Given the description of an element on the screen output the (x, y) to click on. 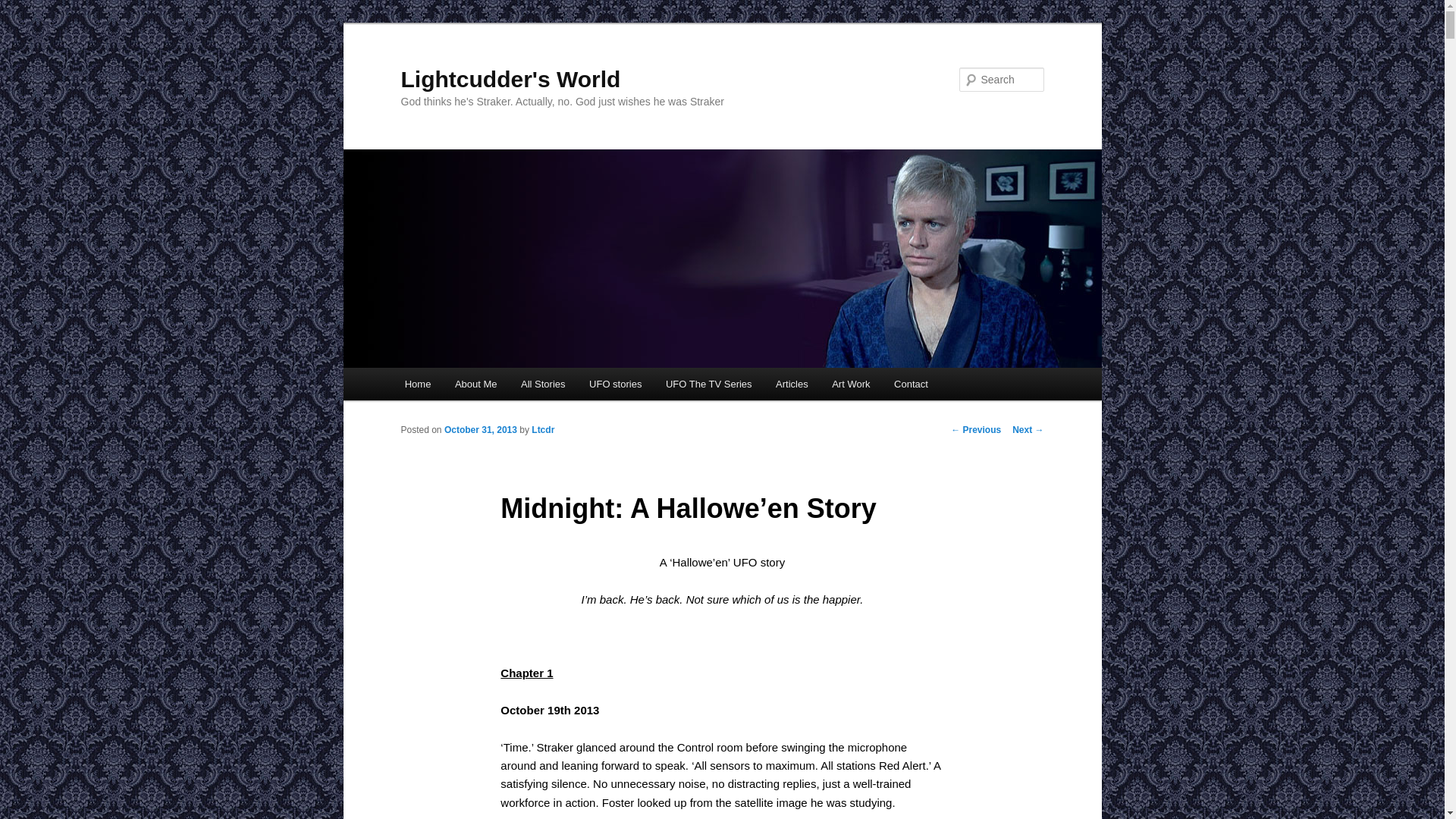
Ltcdr (542, 429)
About Me (475, 383)
Art Work (850, 383)
Articles (790, 383)
View all posts by Ltcdr (542, 429)
UFO The TV Series (707, 383)
1:54 pm (480, 429)
October 31, 2013 (480, 429)
All Stories (542, 383)
Contact (910, 383)
Home (417, 383)
UFO stories (614, 383)
Search (24, 8)
Lightcudder's World (510, 78)
